Given the description of an element on the screen output the (x, y) to click on. 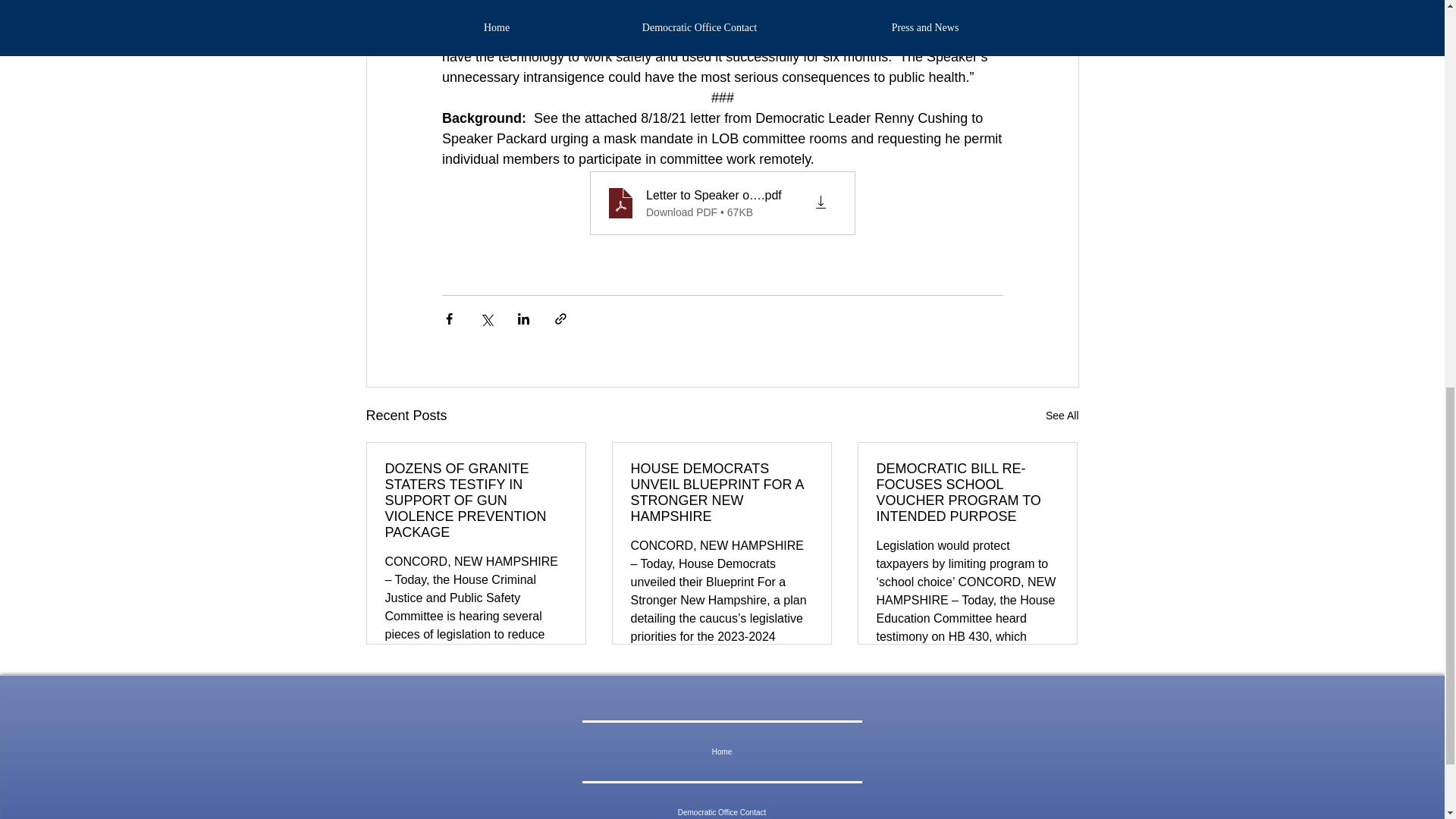
See All (1061, 415)
Home (721, 751)
Democratic Office Contact (721, 800)
